Given the description of an element on the screen output the (x, y) to click on. 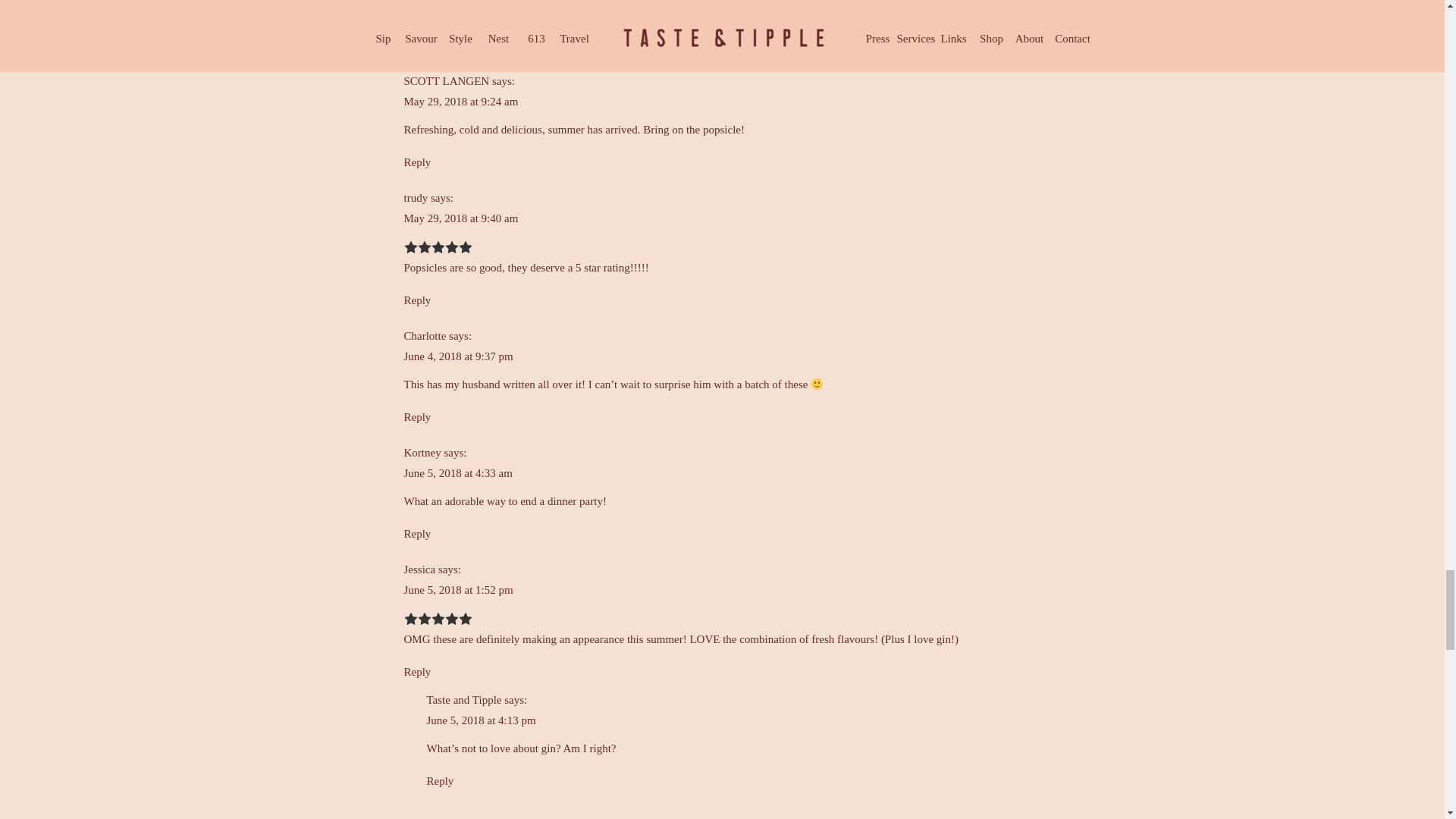
Reply (416, 45)
Kortney (422, 452)
Reply (416, 533)
Reply (416, 417)
June 4, 2018 at 9:37 pm (457, 356)
June 5, 2018 at 4:33 am (457, 472)
Charlotte (424, 336)
May 29, 2018 at 9:24 am (460, 101)
May 29, 2018 at 9:40 am (460, 218)
Reply (416, 300)
Reply (416, 162)
